Given the description of an element on the screen output the (x, y) to click on. 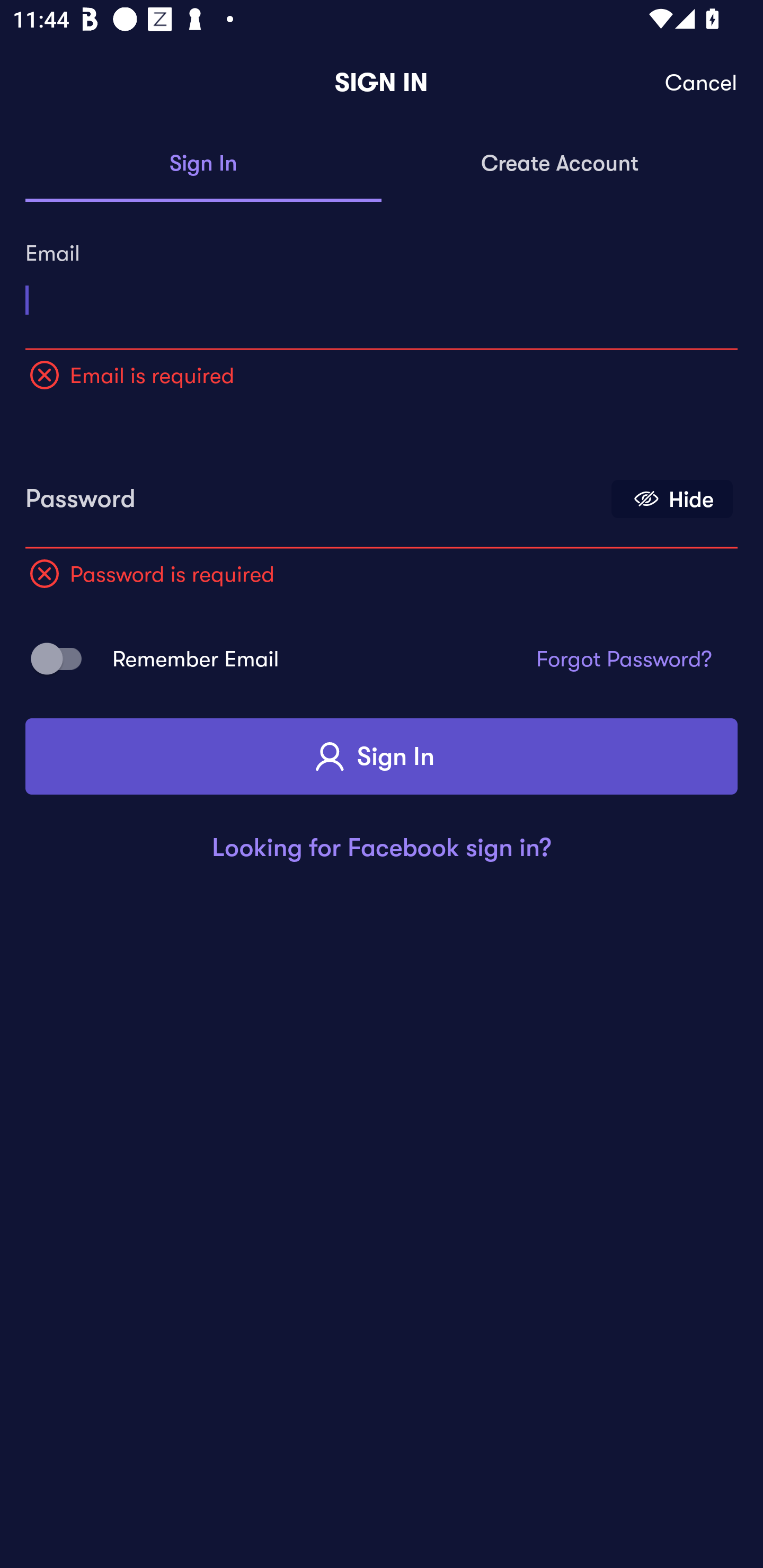
Cancel (701, 82)
Sign In (203, 164)
Create Account (559, 164)
Email, error message, Email is required (381, 293)
Password, error message, Password is required (314, 493)
Show Password Hide (671, 498)
Remember Email (62, 658)
Sign In (381, 756)
